Given the description of an element on the screen output the (x, y) to click on. 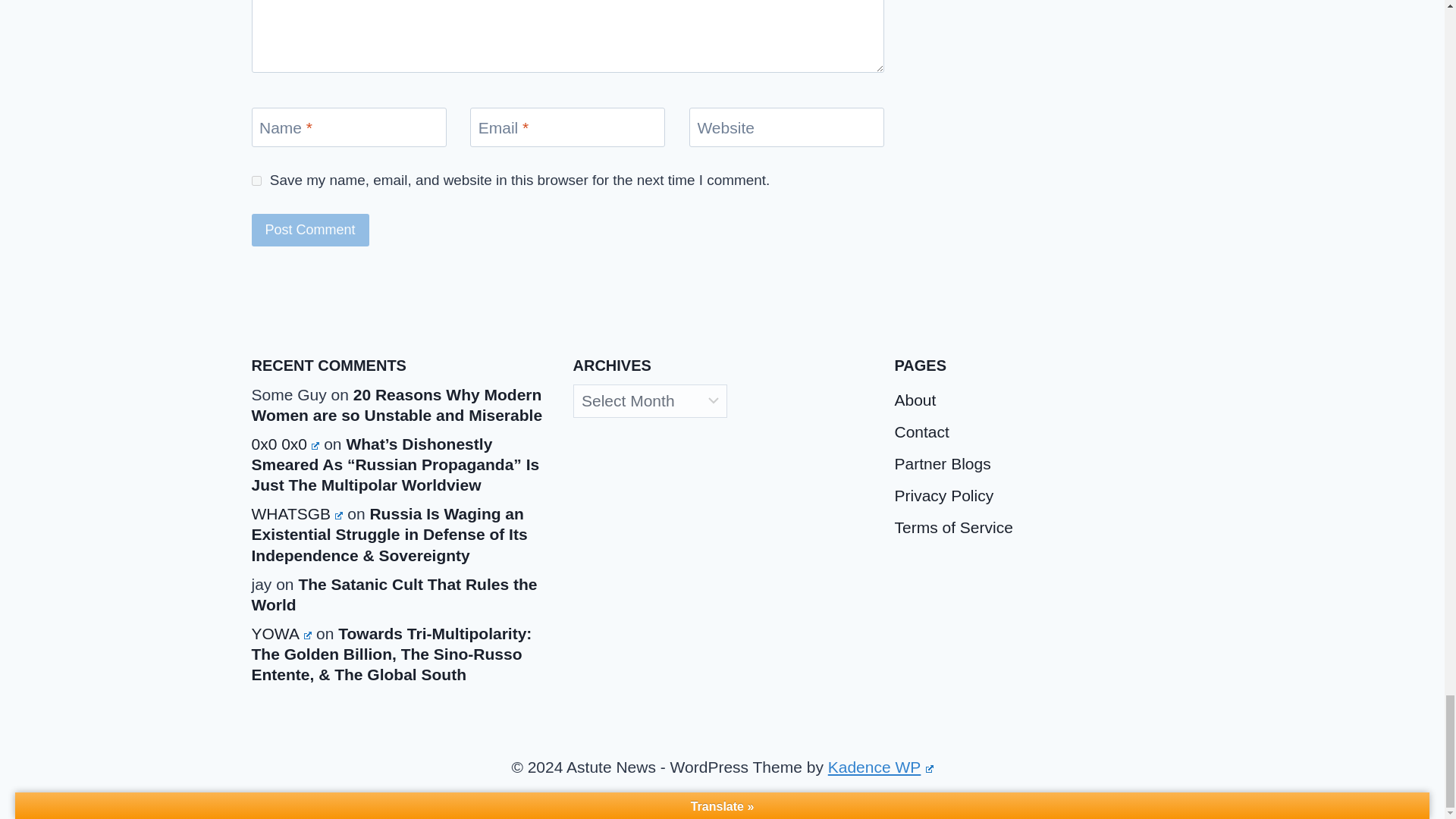
yes (256, 180)
Post Comment (310, 229)
